Given the description of an element on the screen output the (x, y) to click on. 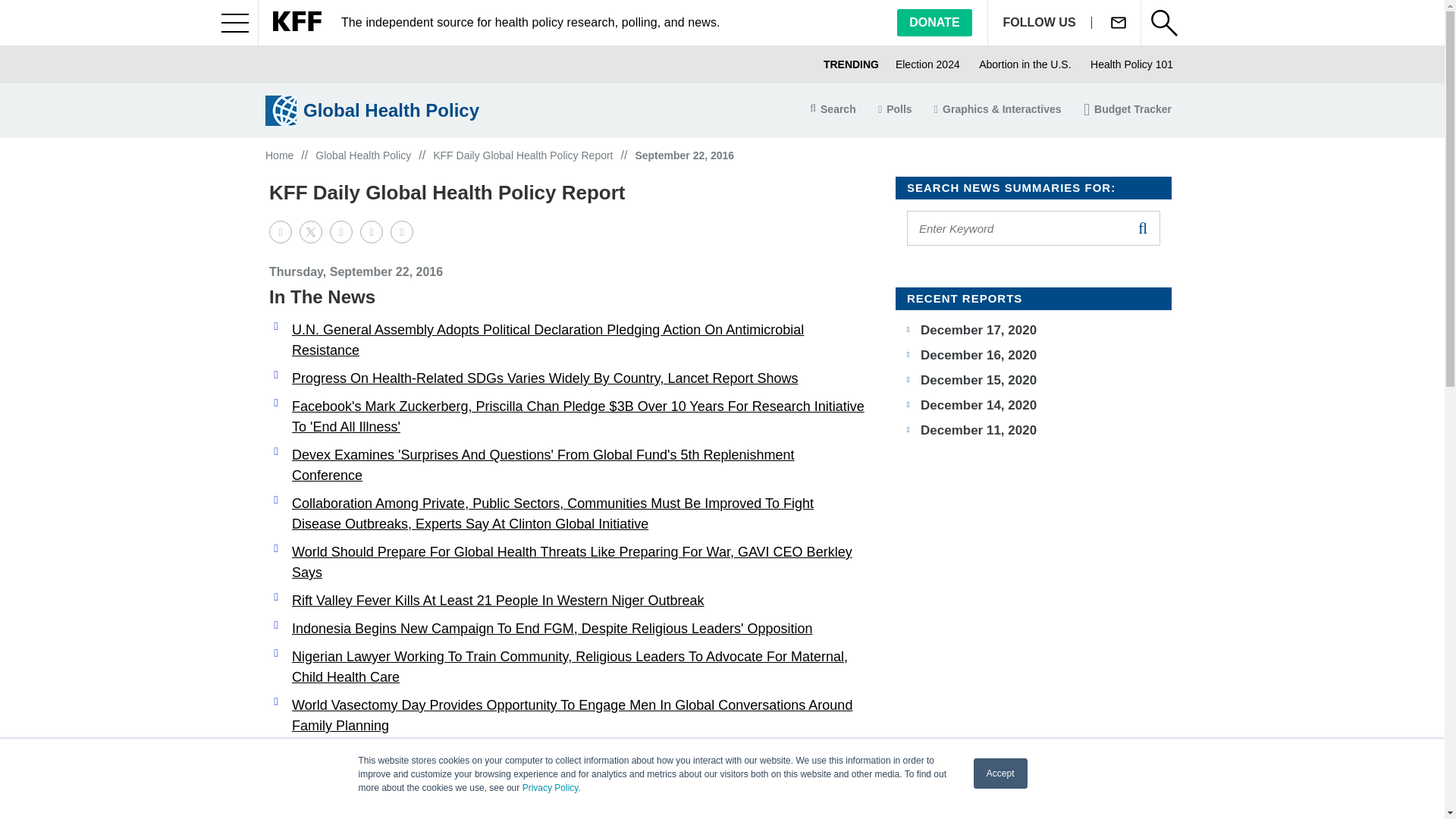
Accept (1000, 773)
Privacy Policy (550, 787)
search (1141, 227)
